Given the description of an element on the screen output the (x, y) to click on. 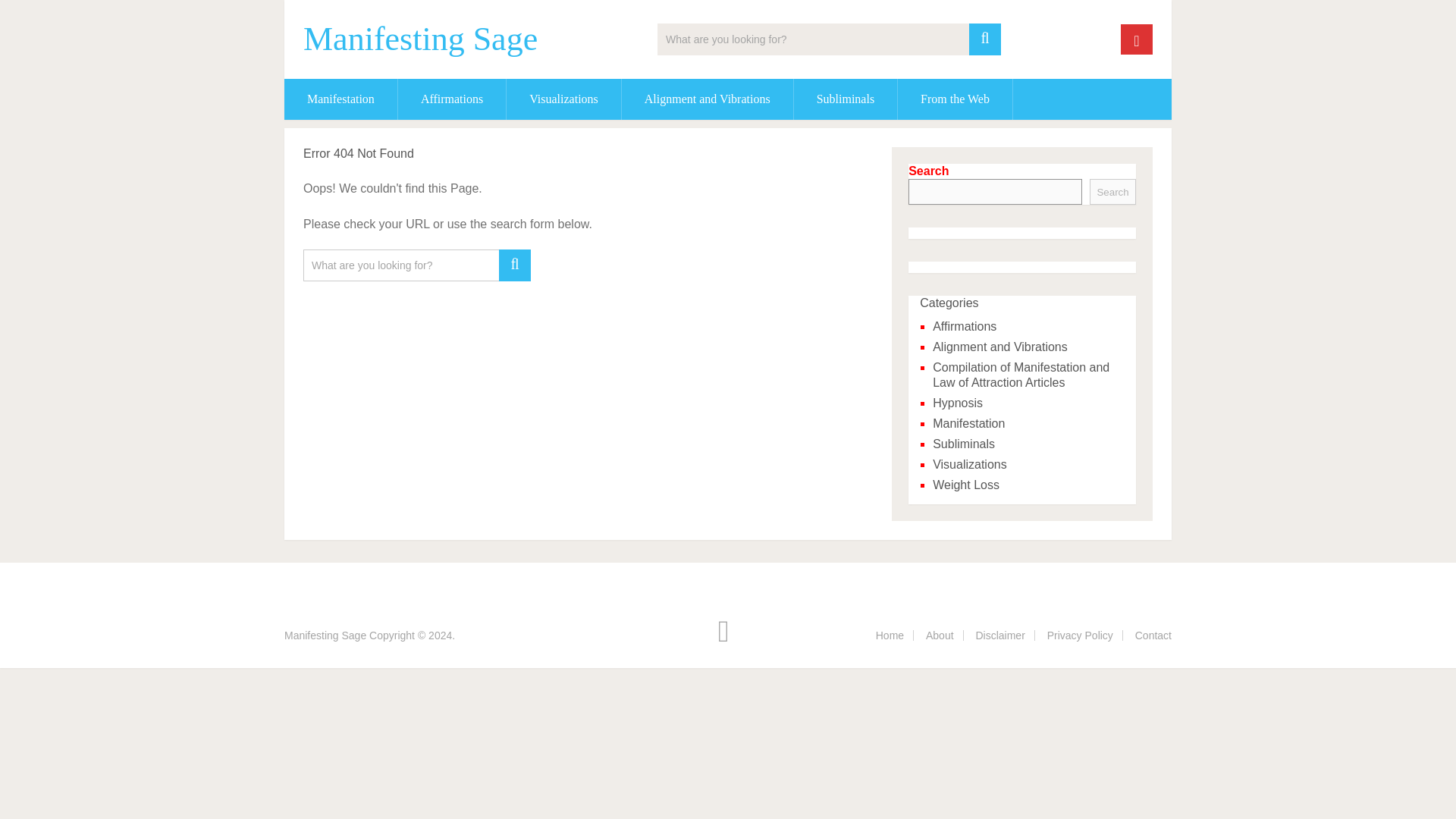
Manifestation (968, 422)
About (939, 635)
Subliminals (963, 443)
Weight Loss (965, 484)
Subliminals (844, 98)
Compilation of Manifestation and Law of Attraction Articles (1021, 375)
Visualizations (563, 98)
Home (890, 635)
Manifestation (340, 98)
Disclaimer (1000, 635)
